Given the description of an element on the screen output the (x, y) to click on. 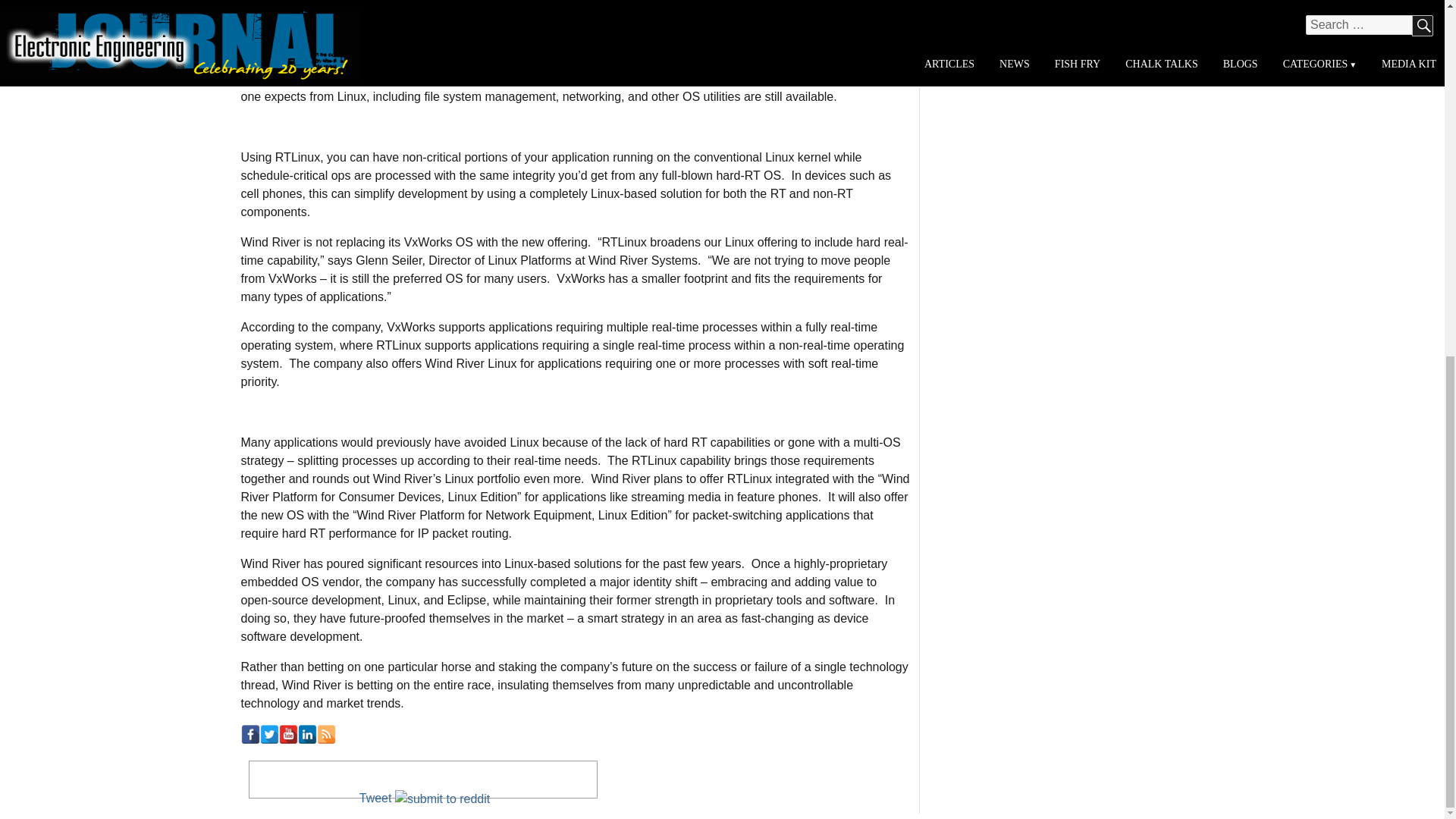
Facebook (250, 733)
Twitter (268, 733)
Tweet (375, 797)
LinkedIn (306, 733)
YouTube (288, 733)
RSS Feed (326, 733)
